Given the description of an element on the screen output the (x, y) to click on. 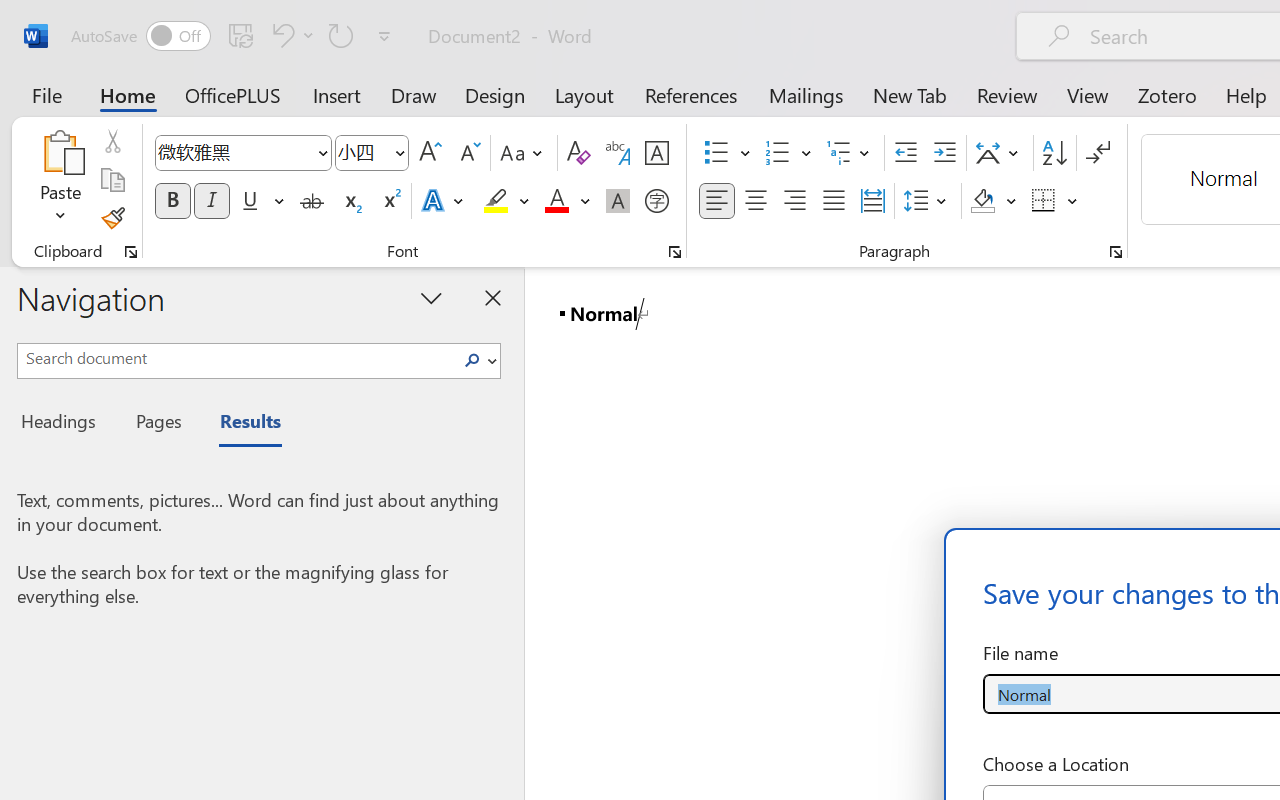
Subscript (350, 201)
Center (756, 201)
Mailings (806, 94)
Numbering (778, 153)
Decrease Indent (906, 153)
Bullets (727, 153)
Align Right (794, 201)
Font Color Red (556, 201)
Italic (212, 201)
Undo Style (290, 35)
